Given the description of an element on the screen output the (x, y) to click on. 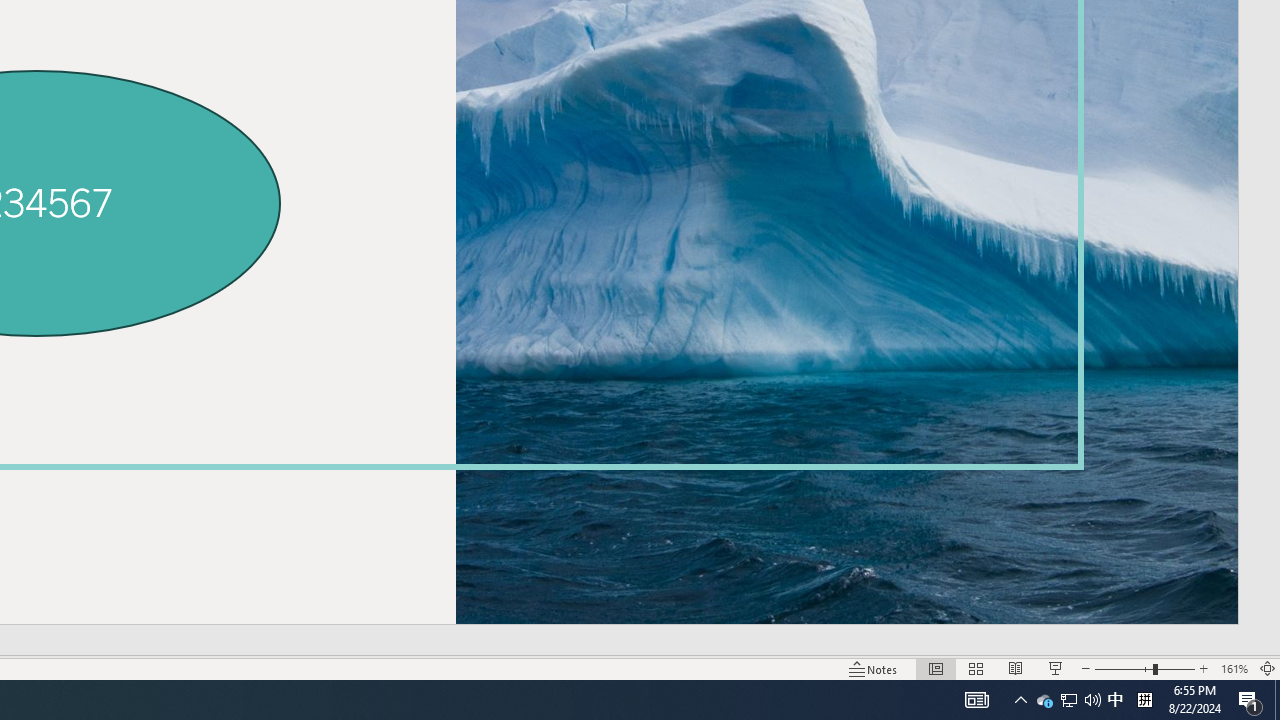
Zoom 161% (1234, 668)
